Given the description of an element on the screen output the (x, y) to click on. 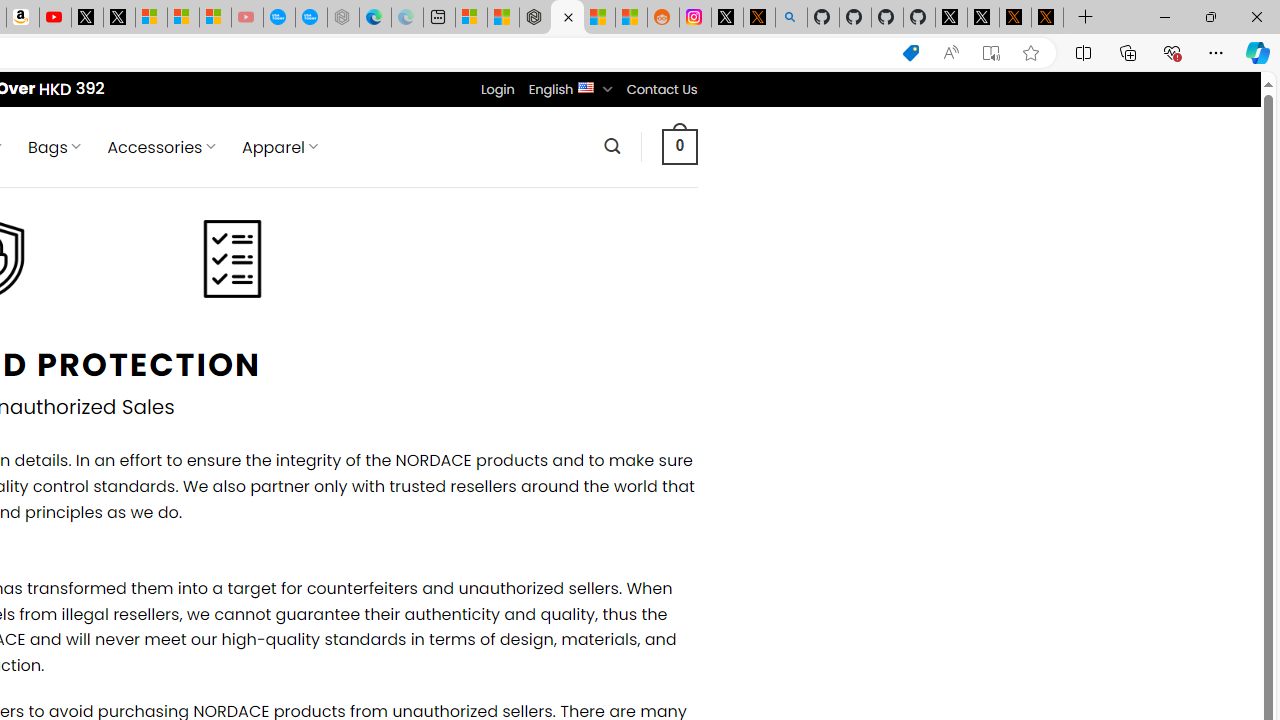
Profile / X (950, 17)
github - Search (791, 17)
GitHub (@github) / X (983, 17)
Enter Immersive Reader (F9) (991, 53)
Microsoft account | Microsoft Account Privacy Settings (471, 17)
Contact Us (661, 89)
This site has coupons! Shopping in Microsoft Edge (910, 53)
